Given the description of an element on the screen output the (x, y) to click on. 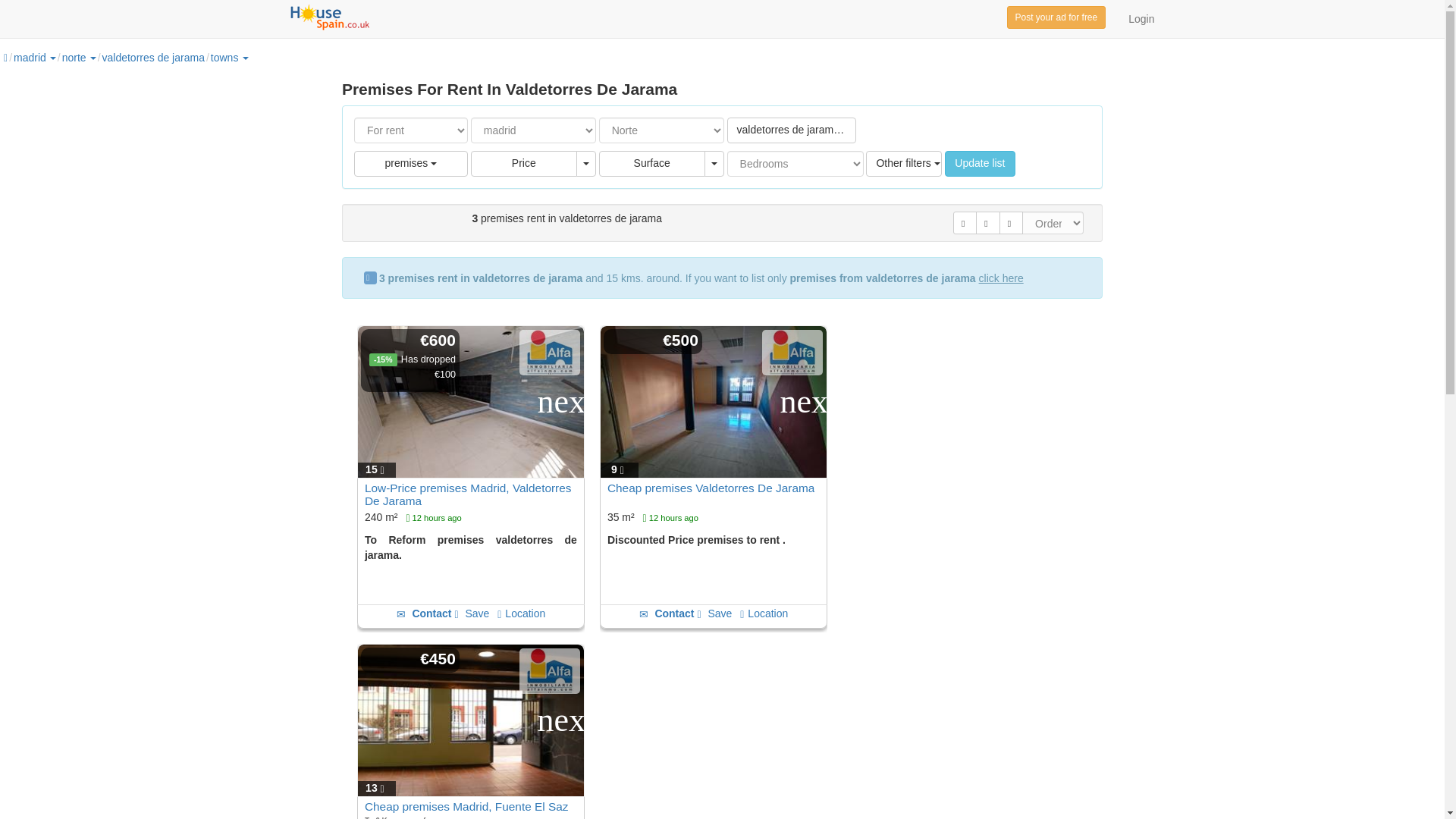
towns (229, 57)
norte (73, 57)
View full ad (468, 493)
Mapview (986, 222)
Post your ad for free (1056, 16)
Post your property for free (1056, 16)
See location map (520, 613)
madrid (29, 57)
Gridview (964, 222)
